Given the description of an element on the screen output the (x, y) to click on. 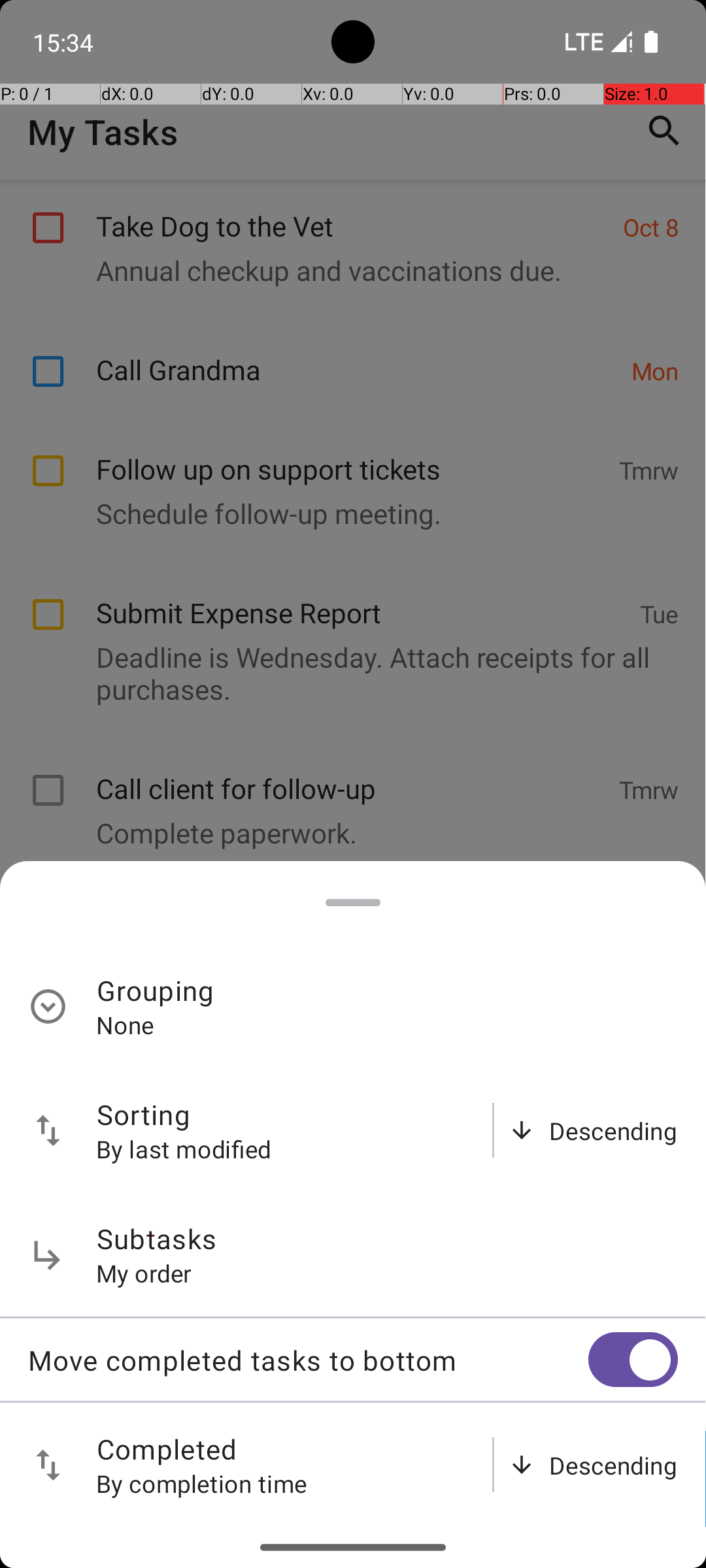
Drag handle Element type: android.view.View (352, 902)
Grouping Element type: android.widget.TextView (155, 989)
Sorting Element type: android.widget.TextView (143, 1113)
By last modified Element type: android.widget.TextView (183, 1148)
Subtasks Element type: android.widget.TextView (156, 1238)
My order Element type: android.widget.TextView (144, 1273)
Move completed tasks to bottom Element type: android.widget.TextView (307, 1359)
Completed Element type: android.widget.TextView (166, 1448)
By completion time Element type: android.widget.TextView (201, 1483)
Descending Element type: android.widget.TextView (613, 1130)
